Given the description of an element on the screen output the (x, y) to click on. 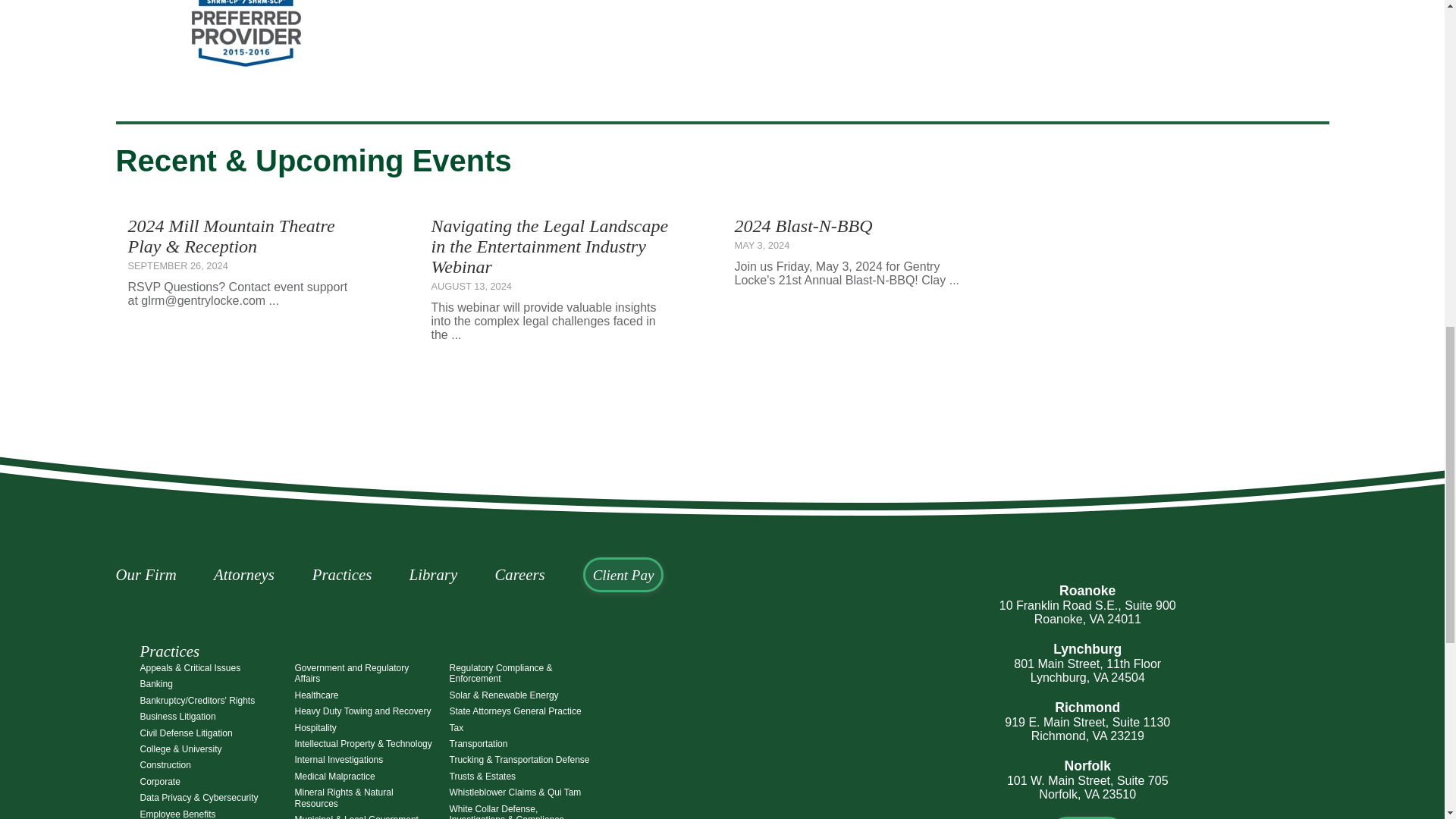
Our Firm (162, 574)
